Given the description of an element on the screen output the (x, y) to click on. 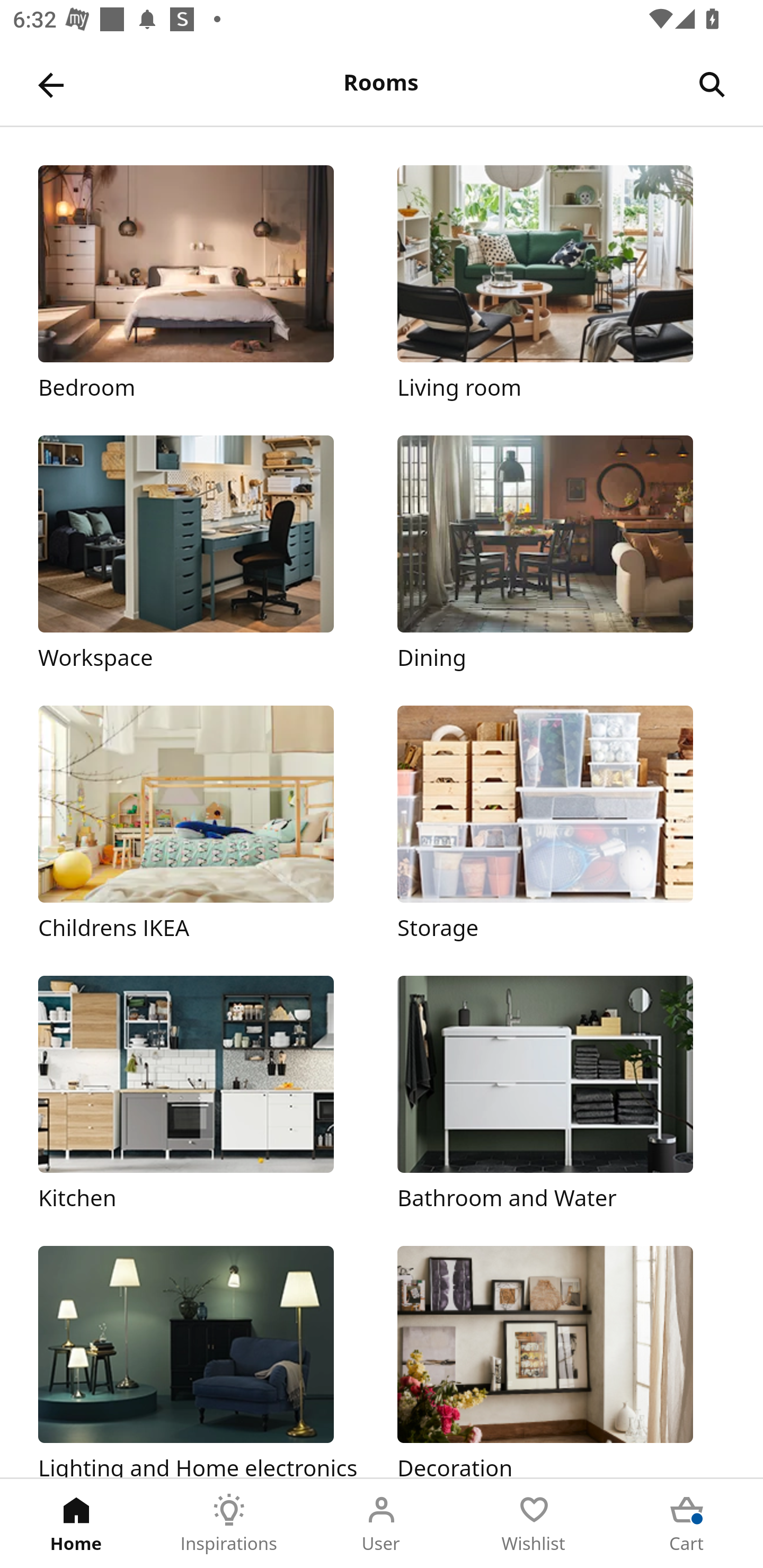
Bedroom (201, 283)
Living room (560, 283)
Workspace (201, 554)
Dining (560, 554)
Childrens IKEA (201, 824)
Storage (560, 824)
Kitchen (201, 1094)
Bathroom and Water (560, 1094)
Lighting and Home electronics (201, 1361)
Decoration (560, 1361)
Home
Tab 1 of 5 (76, 1522)
Inspirations
Tab 2 of 5 (228, 1522)
User
Tab 3 of 5 (381, 1522)
Wishlist
Tab 4 of 5 (533, 1522)
Cart
Tab 5 of 5 (686, 1522)
